Given the description of an element on the screen output the (x, y) to click on. 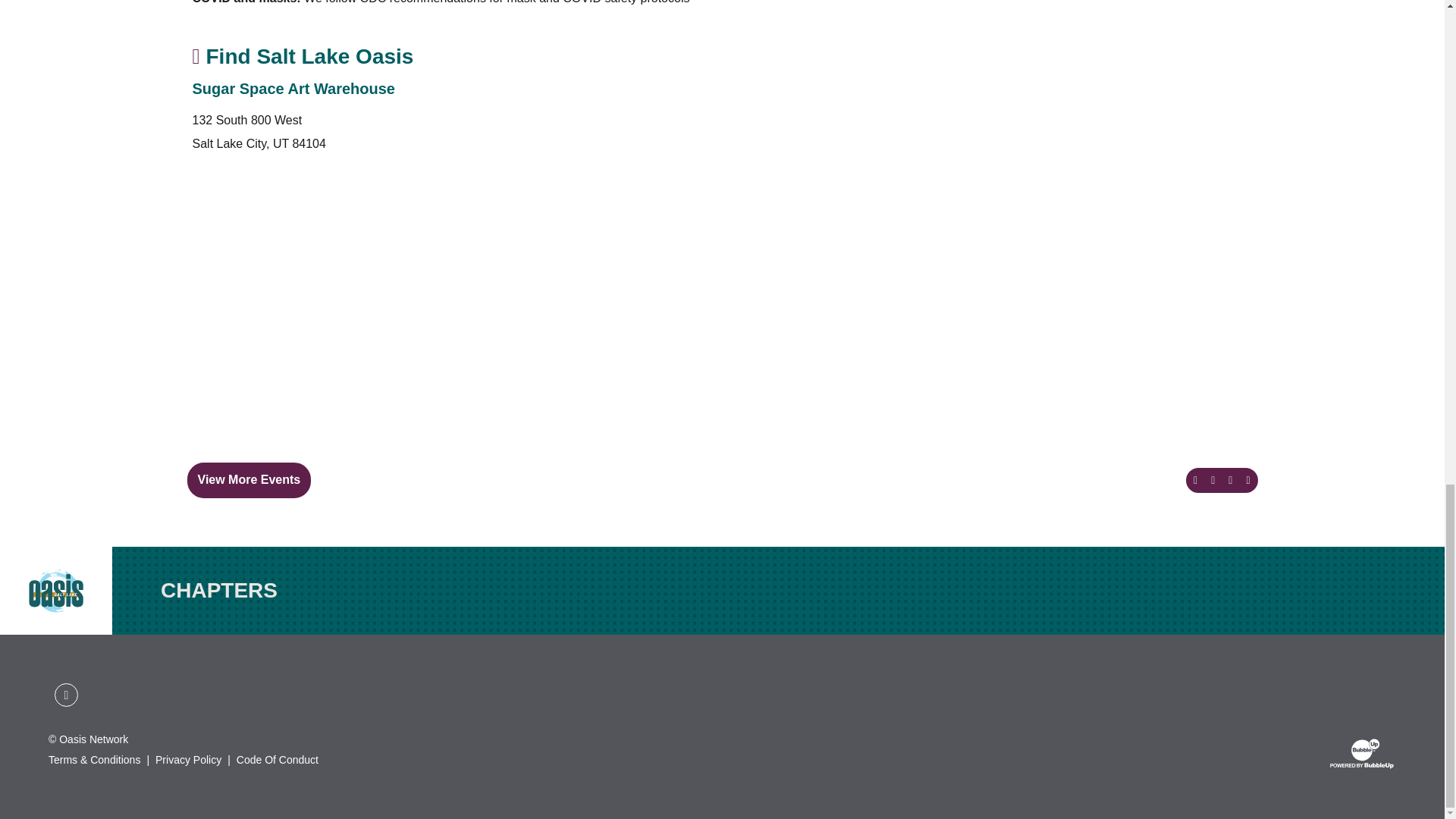
View More Events (248, 479)
Facebook (65, 695)
Privacy Policy (188, 760)
Meetup (47, 683)
Code Of Conduct (276, 760)
YouTube (84, 683)
